Given the description of an element on the screen output the (x, y) to click on. 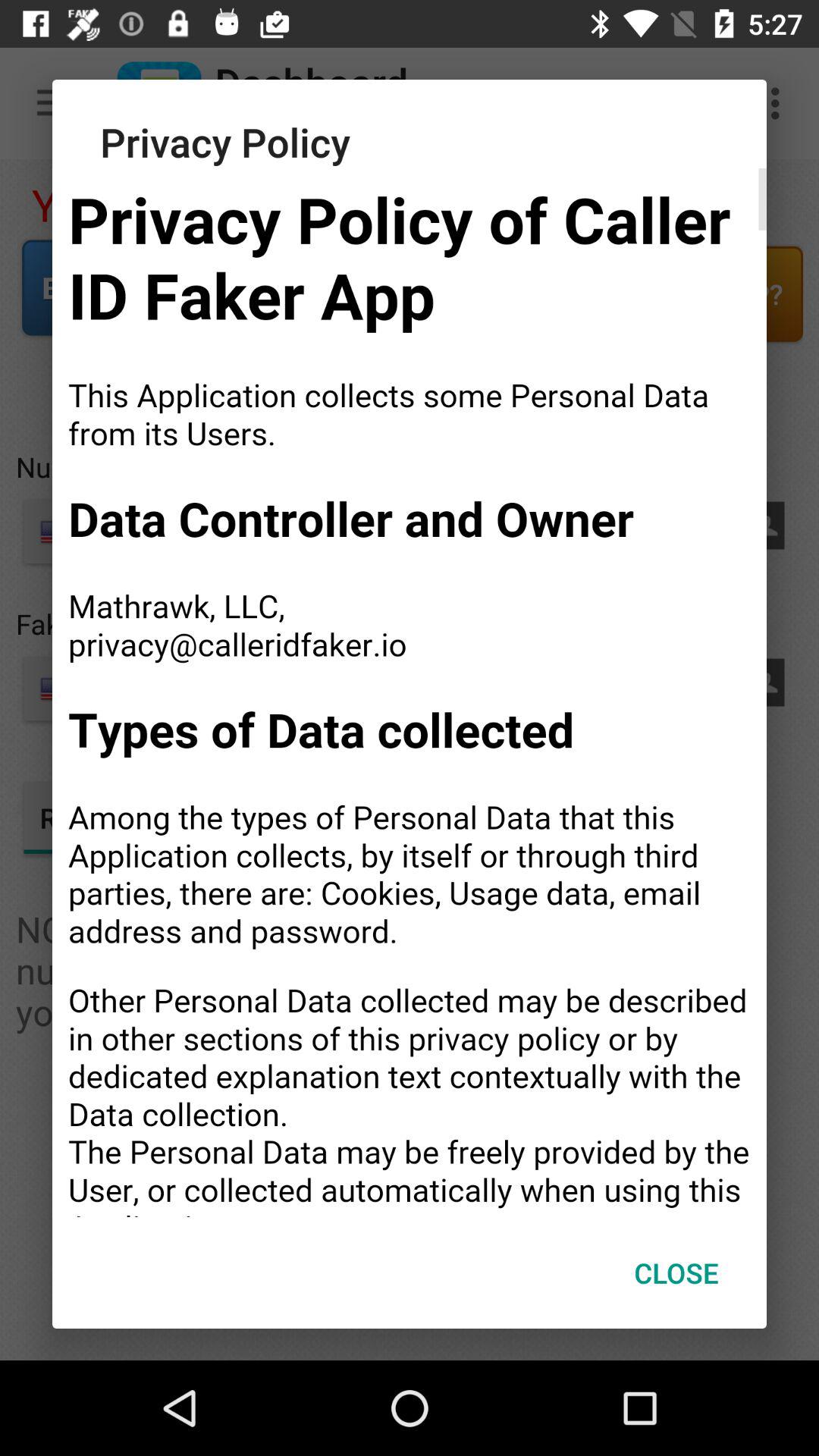
advertisement (409, 692)
